Given the description of an element on the screen output the (x, y) to click on. 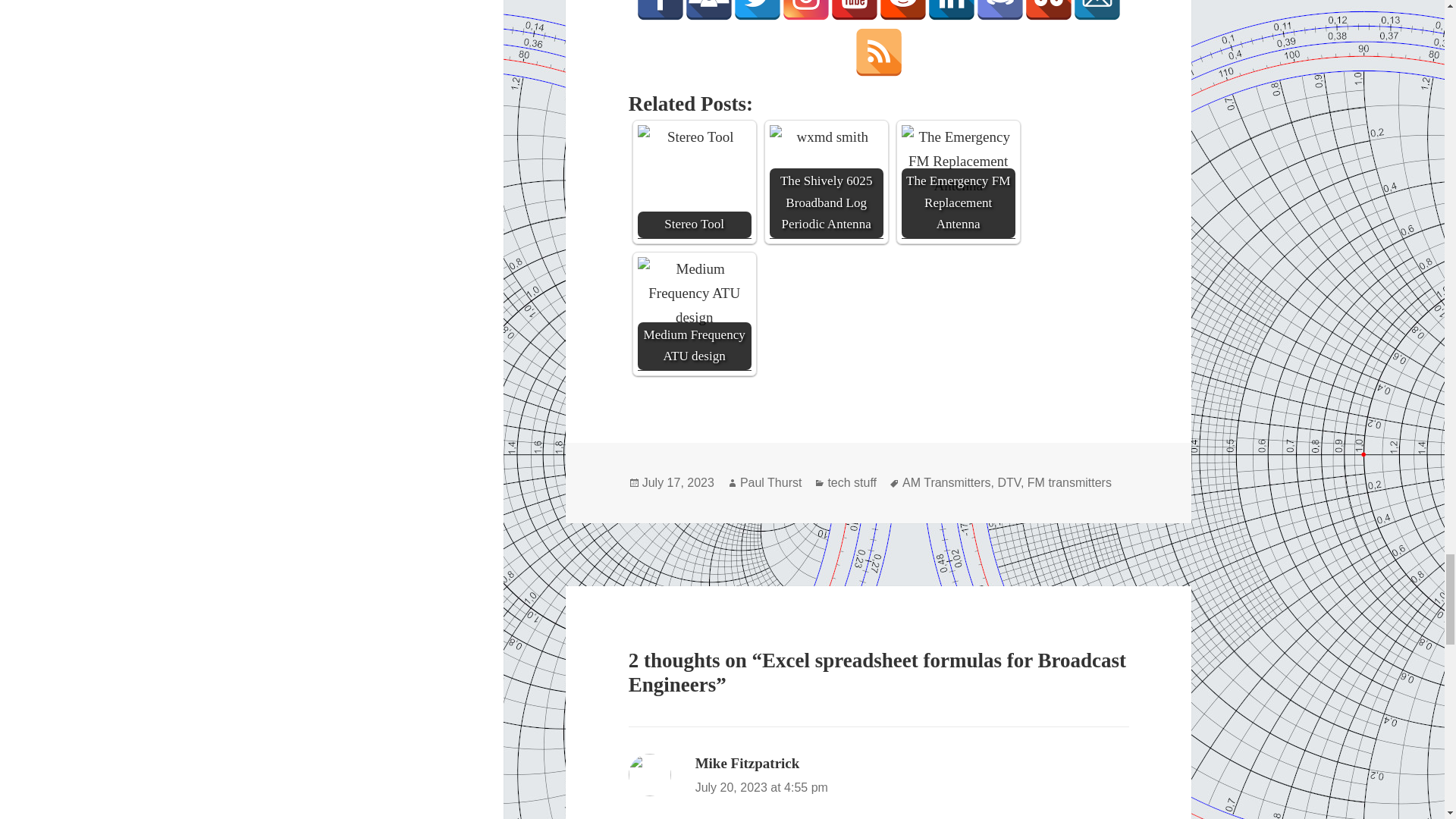
Twitter (757, 10)
StumbleUpon (1049, 10)
YouTube (854, 10)
Email (1097, 10)
Reddit (903, 10)
Discord (1000, 10)
Facebook (660, 10)
Instagram (805, 10)
Facebook Group (708, 10)
LinkedIn (951, 10)
